Given the description of an element on the screen output the (x, y) to click on. 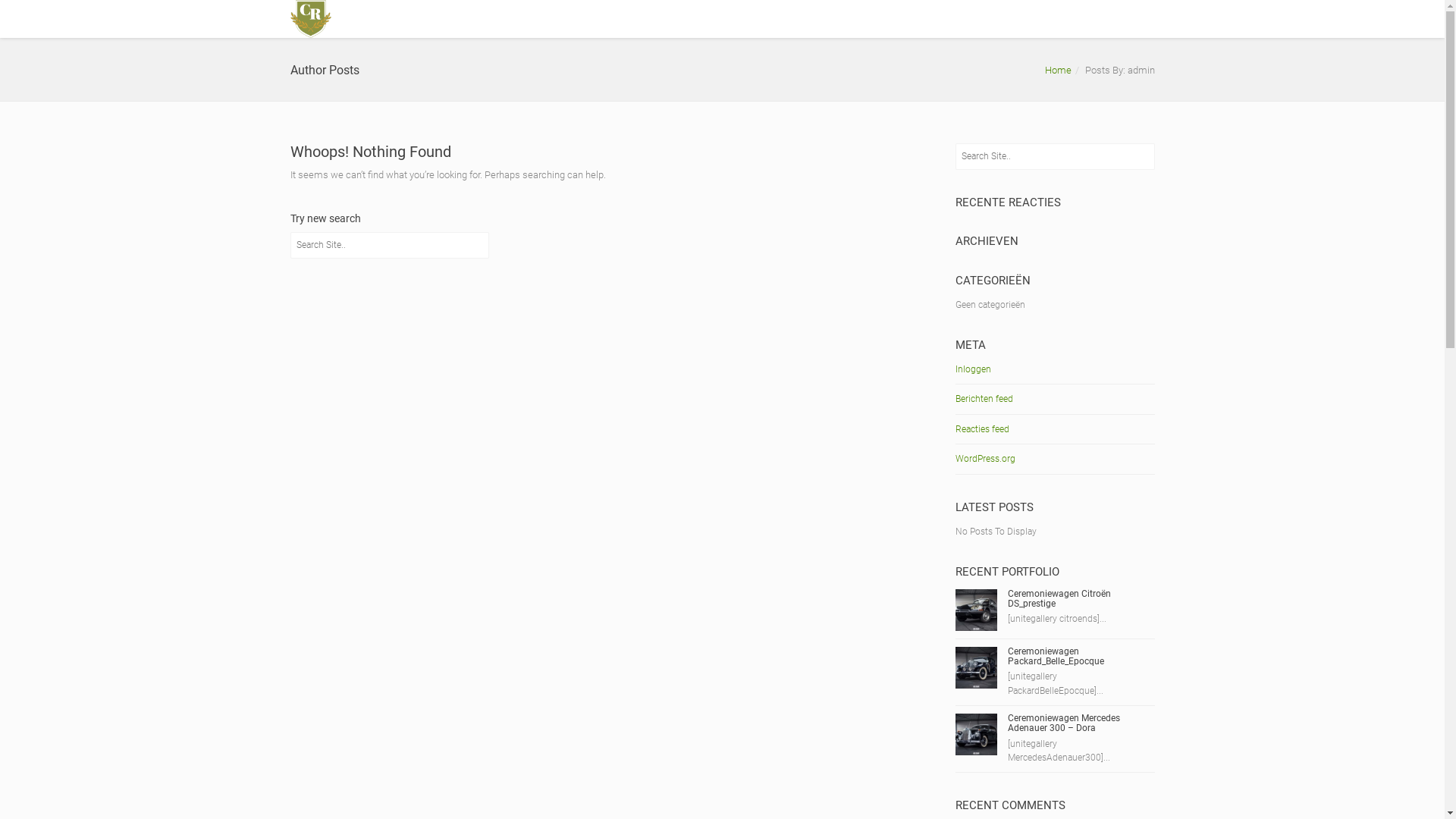
Over ons Element type: text (777, 18)
Diensten Element type: text (842, 18)
Nieuws Element type: text (1074, 18)
Berichten feed Element type: text (984, 398)
Ons motto Element type: text (913, 18)
Ceremoniewagen Packard_Belle_Epocque Element type: text (1055, 656)
Onze collectie Element type: text (997, 18)
Home Element type: text (717, 18)
Contact Element type: text (1129, 18)
WordPress.org Element type: text (985, 458)
Inloggen Element type: text (973, 369)
Reacties feed Element type: text (982, 428)
Home Element type: text (1057, 69)
